Given the description of an element on the screen output the (x, y) to click on. 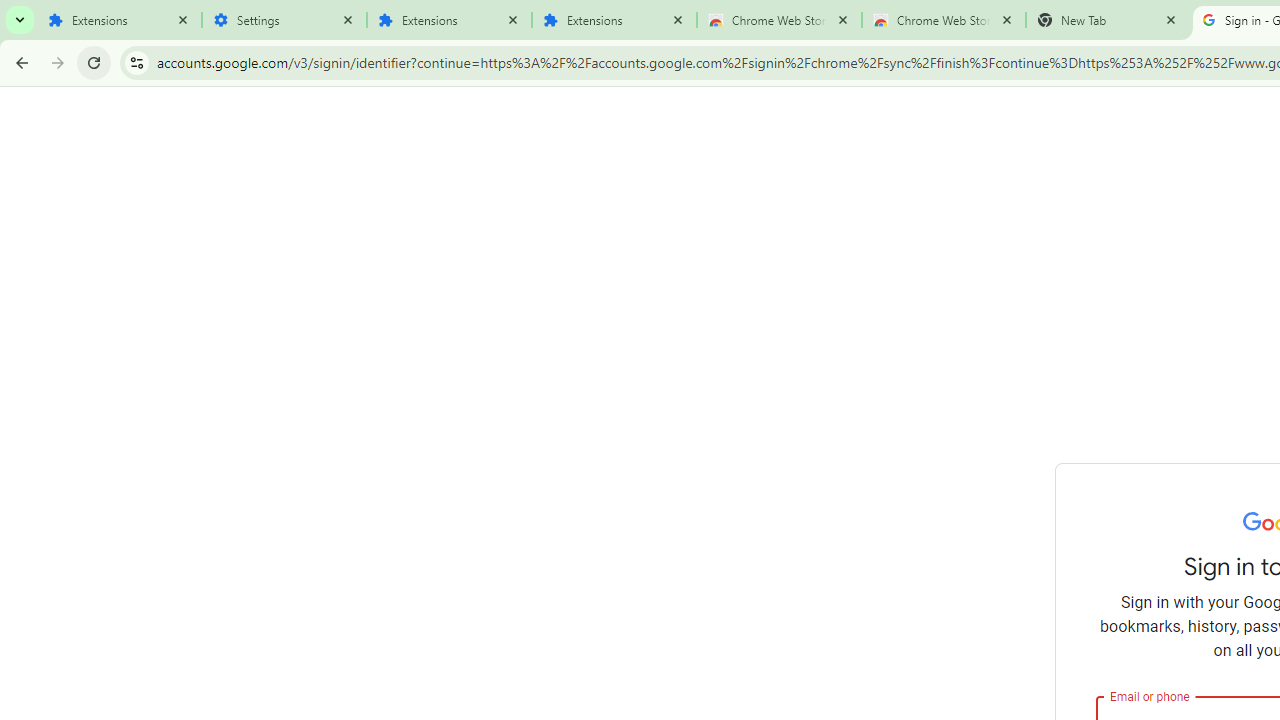
New Tab (1108, 20)
Chrome Web Store - Themes (943, 20)
Extensions (614, 20)
Reload (93, 62)
View site information (136, 62)
Back (19, 62)
Search tabs (20, 20)
Settings (284, 20)
Extensions (449, 20)
Extensions (119, 20)
Forward (57, 62)
Chrome Web Store (779, 20)
